Given the description of an element on the screen output the (x, y) to click on. 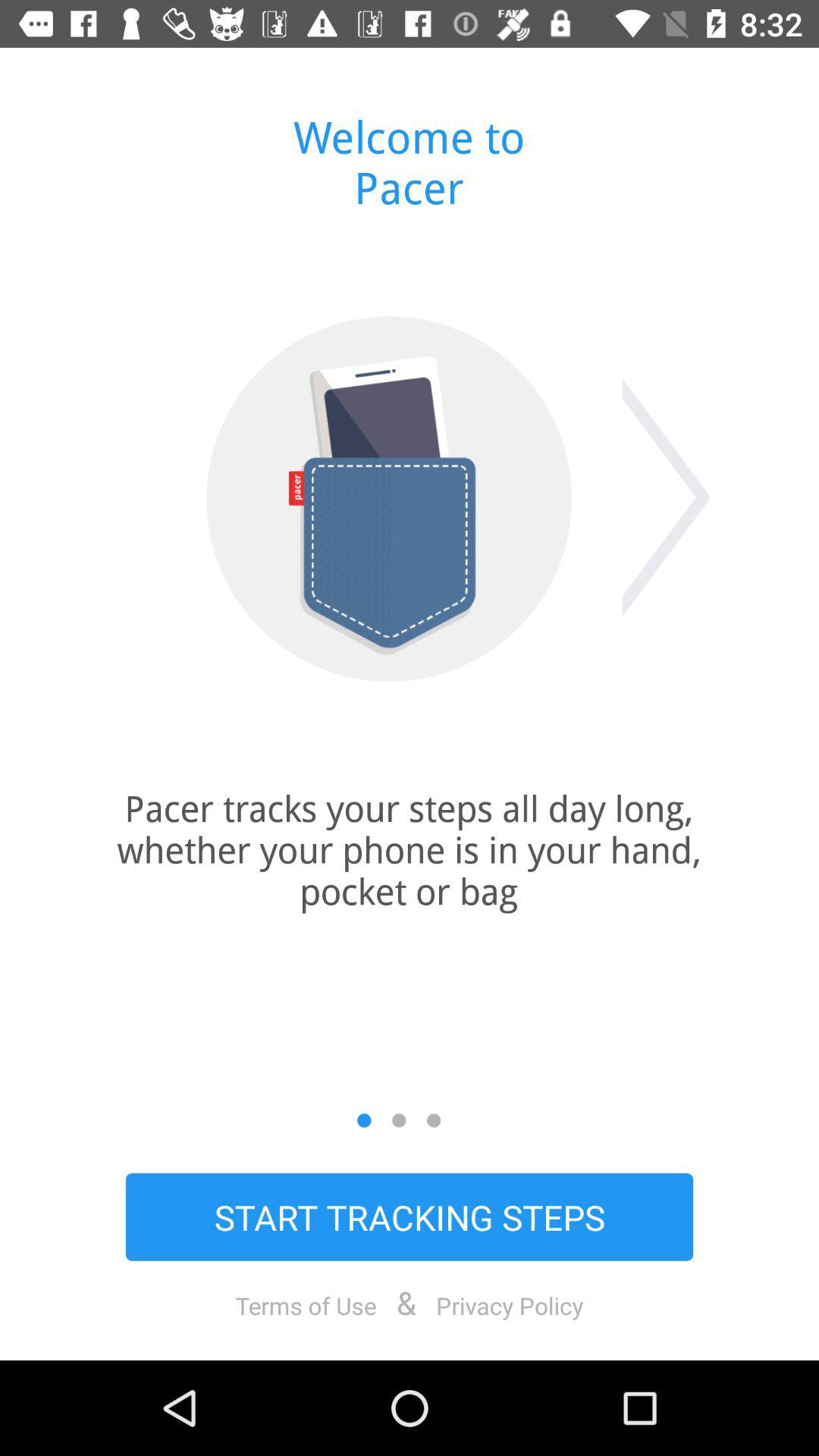
click privacy policy icon (509, 1305)
